Given the description of an element on the screen output the (x, y) to click on. 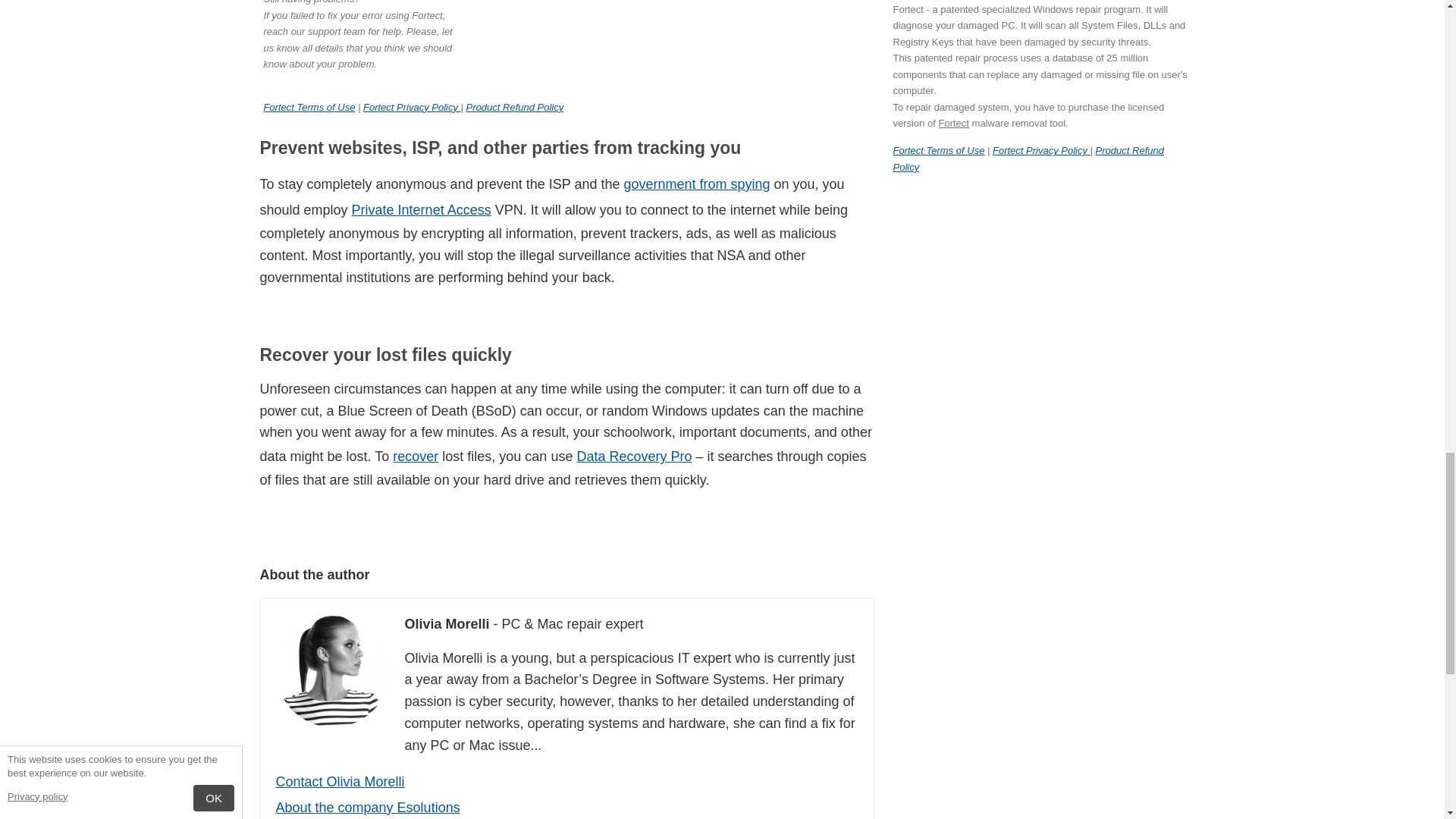
Olivia Morelli (333, 670)
Private Internet Access (422, 209)
About the company Esolutions (368, 807)
Fortect Terms of Use (309, 107)
Fortect Privacy Policy (411, 107)
Data Recovery Pro (633, 456)
Contact Olivia Morelli (340, 781)
government from spying (696, 183)
Product Refund Policy (514, 107)
recover (415, 456)
